Given the description of an element on the screen output the (x, y) to click on. 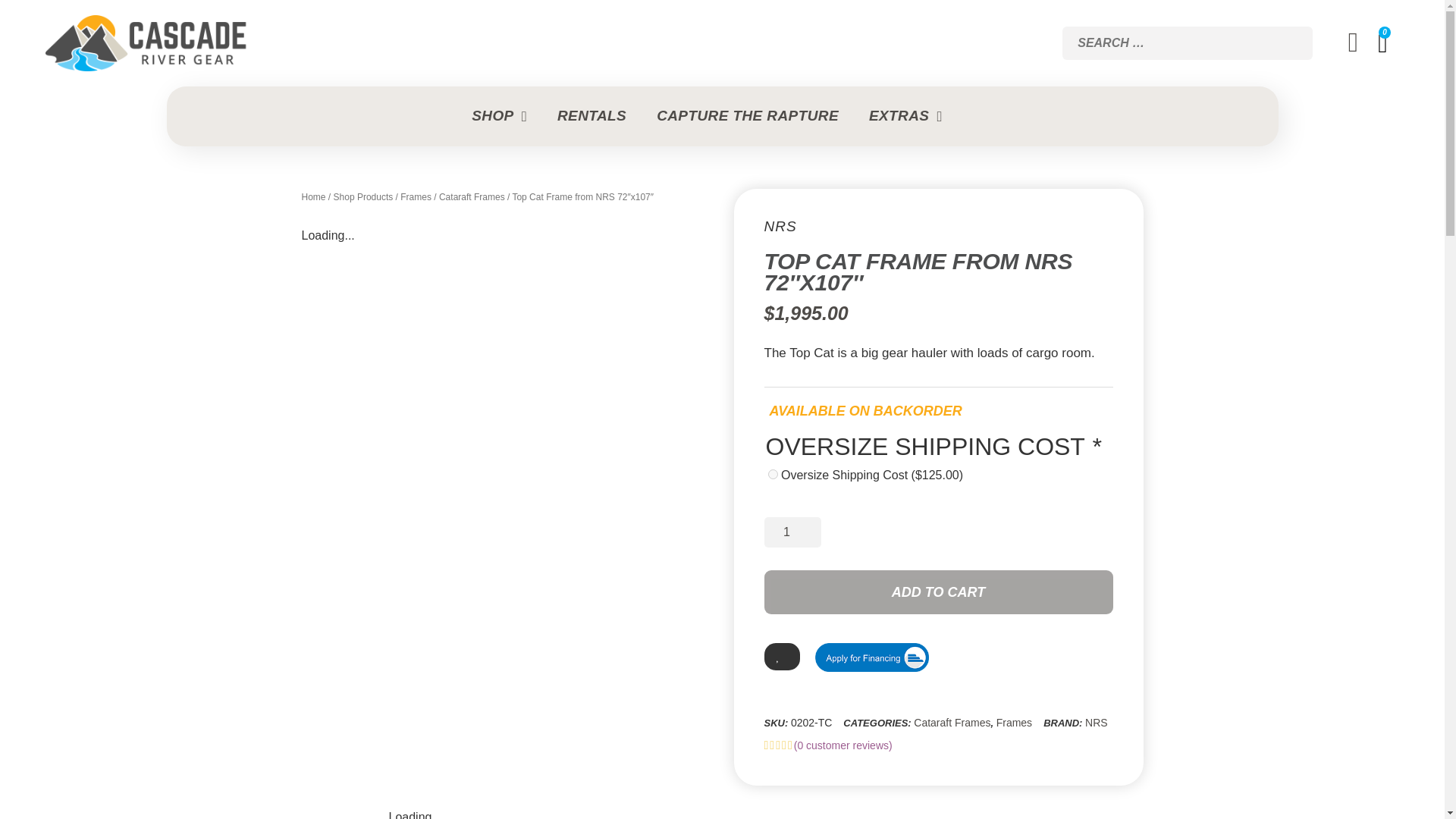
1 (792, 531)
SHOP (514, 116)
oversize-shipping-cost-125-00 (772, 474)
